Given the description of an element on the screen output the (x, y) to click on. 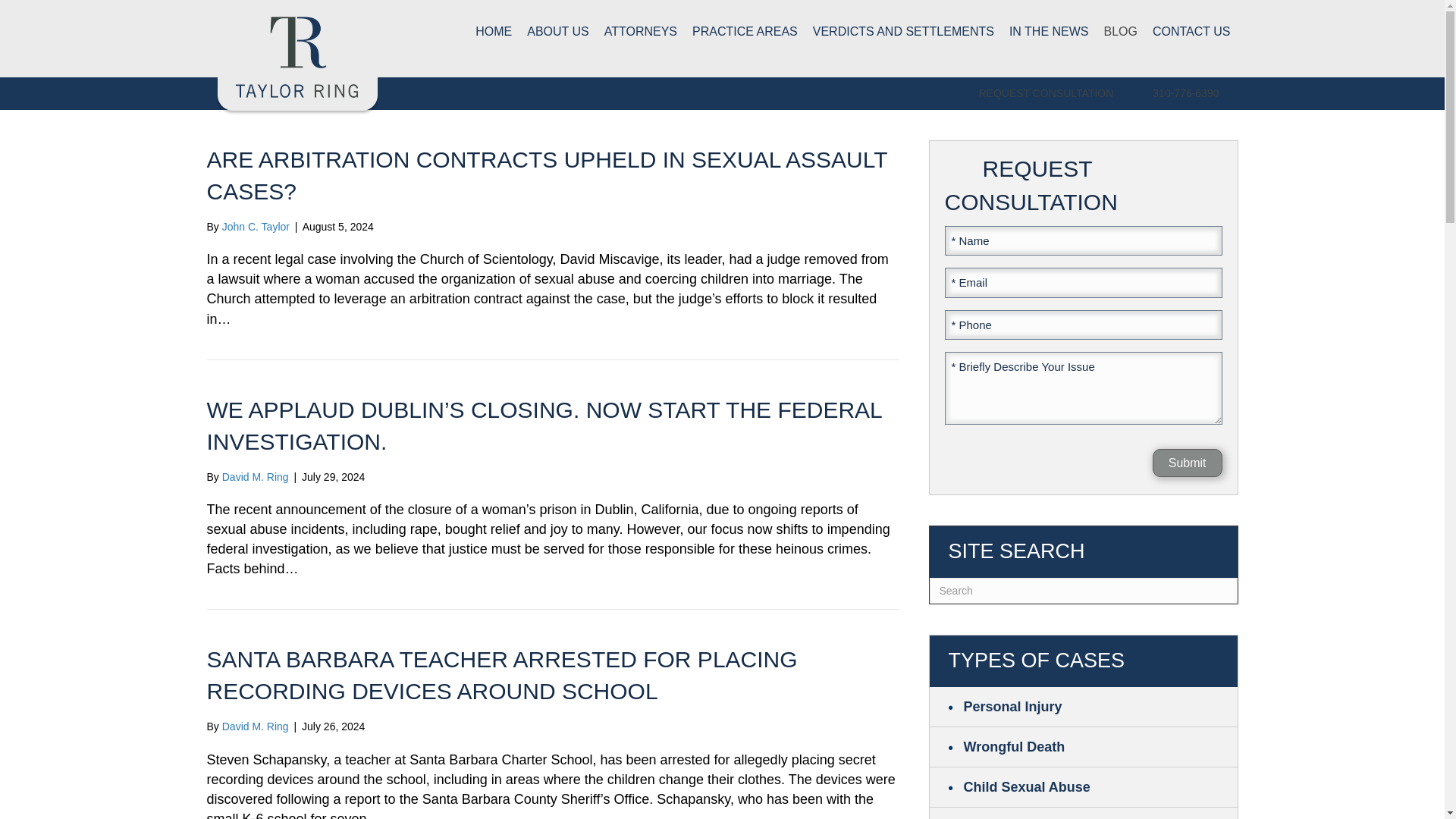
Type and press Enter to search. (1083, 590)
HOME (493, 31)
ABOUT US (557, 31)
Are Arbitration Contracts Upheld in Sexual Assault Cases? (546, 175)
ATTORNEYS (640, 31)
Submit (1188, 462)
Taylor Ring - Injury Lawyers (296, 57)
PRACTICE AREAS (744, 31)
